Given the description of an element on the screen output the (x, y) to click on. 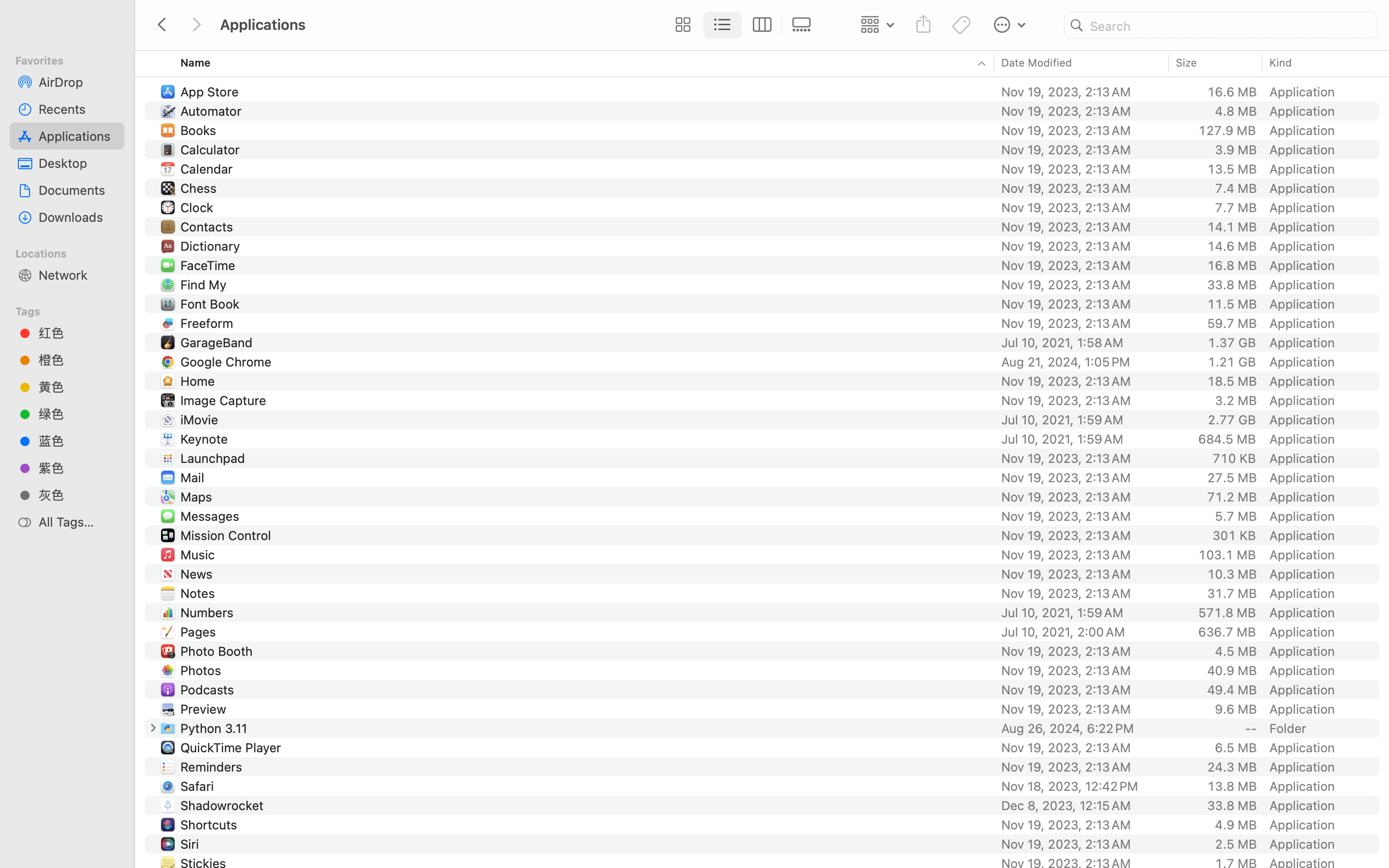
Jul 10, 2021, 1:59 AM Element type: AXStaticText (1081, 612)
0 Element type: AXRadioButton (680, 24)
-- Element type: AXStaticText (1250, 727)
13.8 MB Element type: AXStaticText (1231, 785)
Calendar Element type: AXTextField (208, 168)
